Given the description of an element on the screen output the (x, y) to click on. 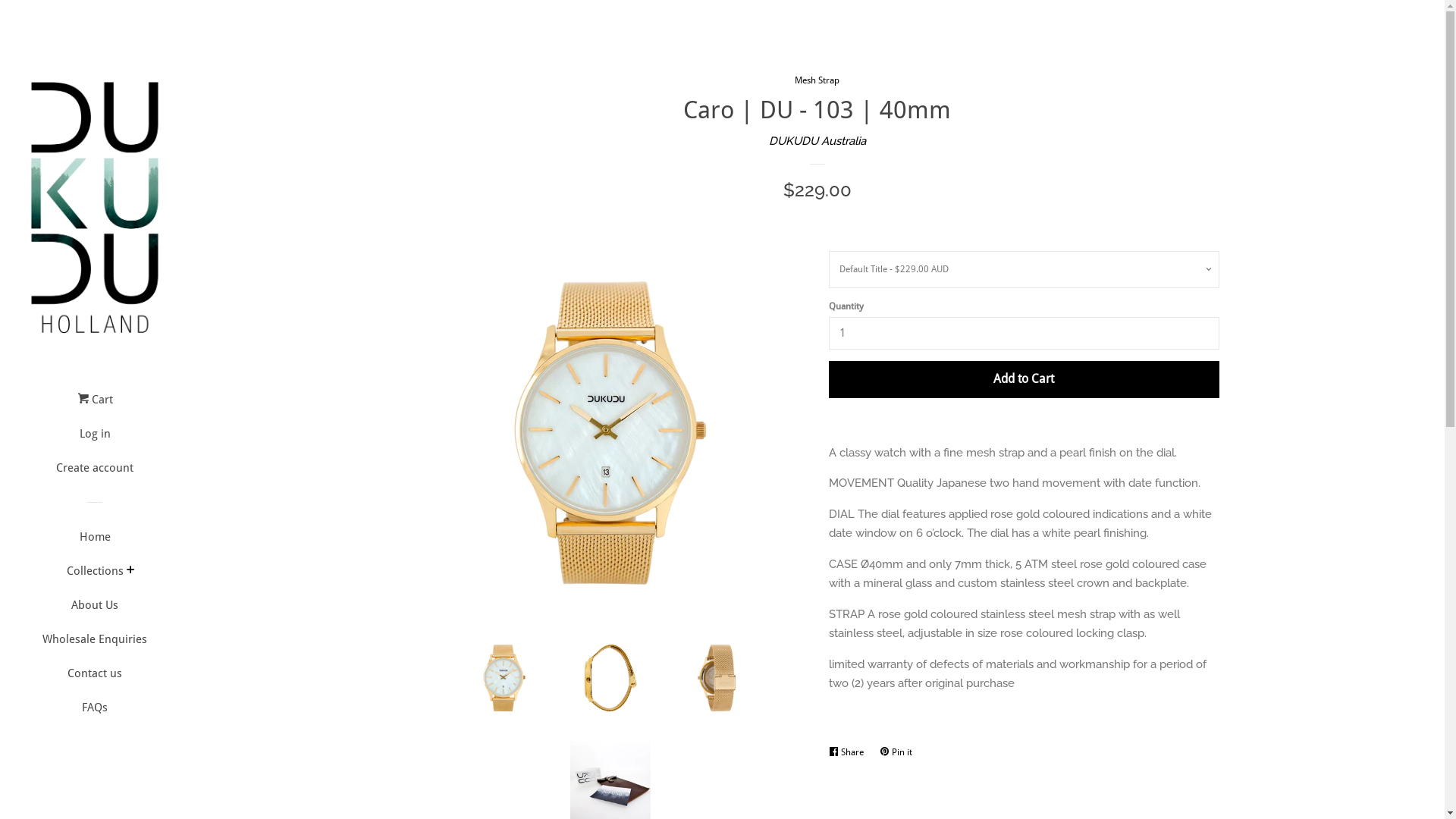
FAQs Element type: text (94, 713)
Home Element type: text (94, 542)
Pin it
Pin on Pinterest Element type: text (899, 752)
expand Element type: text (129, 570)
Wholesale Enquiries Element type: text (94, 644)
Log in Element type: text (94, 439)
Cart Element type: text (94, 405)
About Us Element type: text (94, 610)
Mesh Strap Element type: text (816, 80)
Add to Cart Element type: text (1023, 379)
DUKUDU Australia Element type: text (817, 140)
Share
Share on Facebook Element type: text (849, 752)
Collections Element type: text (94, 576)
Create account Element type: text (94, 473)
Contact us Element type: text (94, 679)
